Given the description of an element on the screen output the (x, y) to click on. 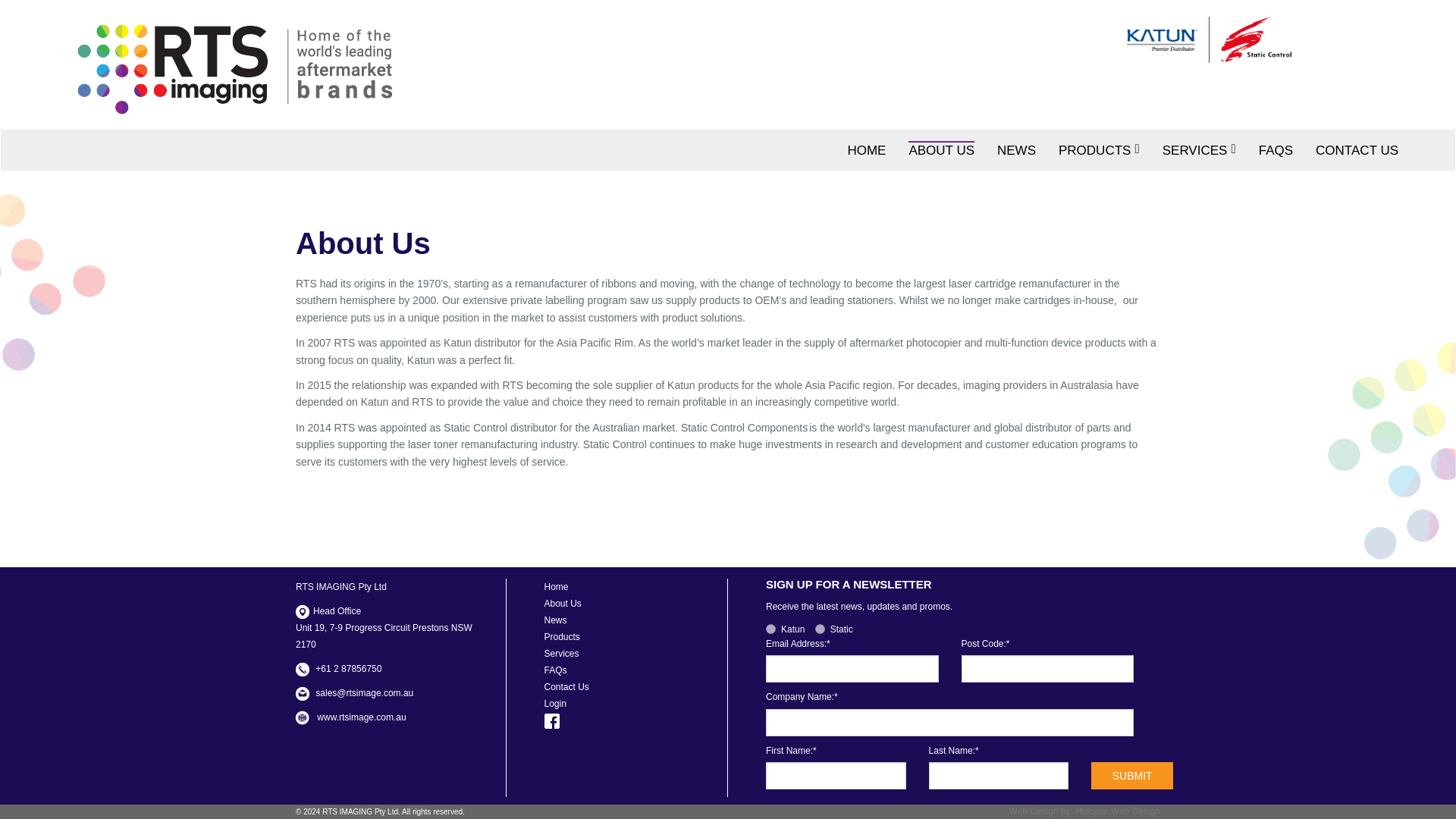
HOME (866, 149)
CONTACT US (1356, 149)
Products (561, 636)
About Us (562, 603)
www.rtsimage.com.au (361, 716)
News (555, 620)
Home (556, 586)
Static (820, 628)
ABOUT US (941, 149)
Login (555, 703)
